Given the description of an element on the screen output the (x, y) to click on. 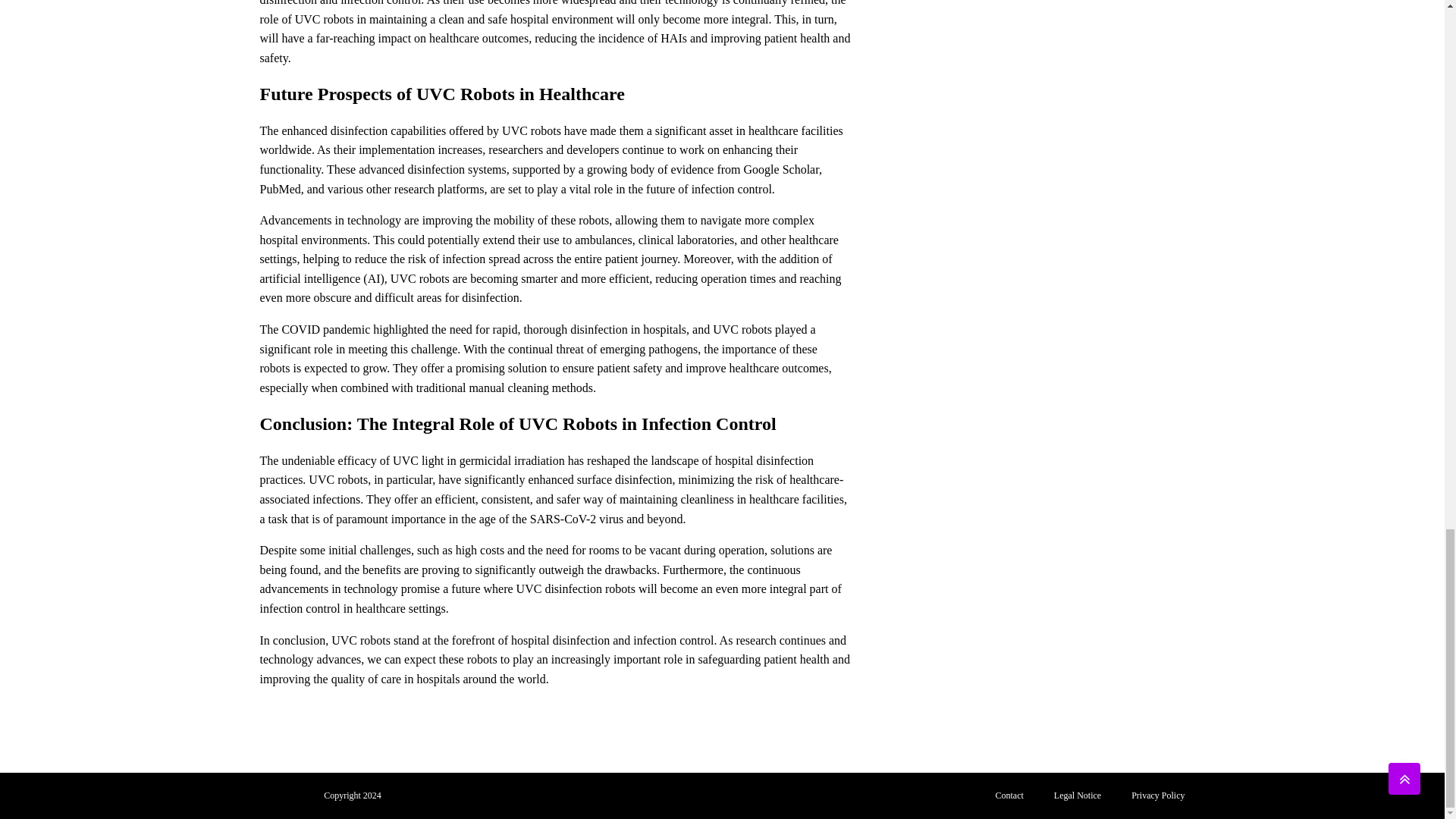
Contact (1009, 795)
Legal Notice (1077, 795)
Privacy Policy (1157, 795)
